Given the description of an element on the screen output the (x, y) to click on. 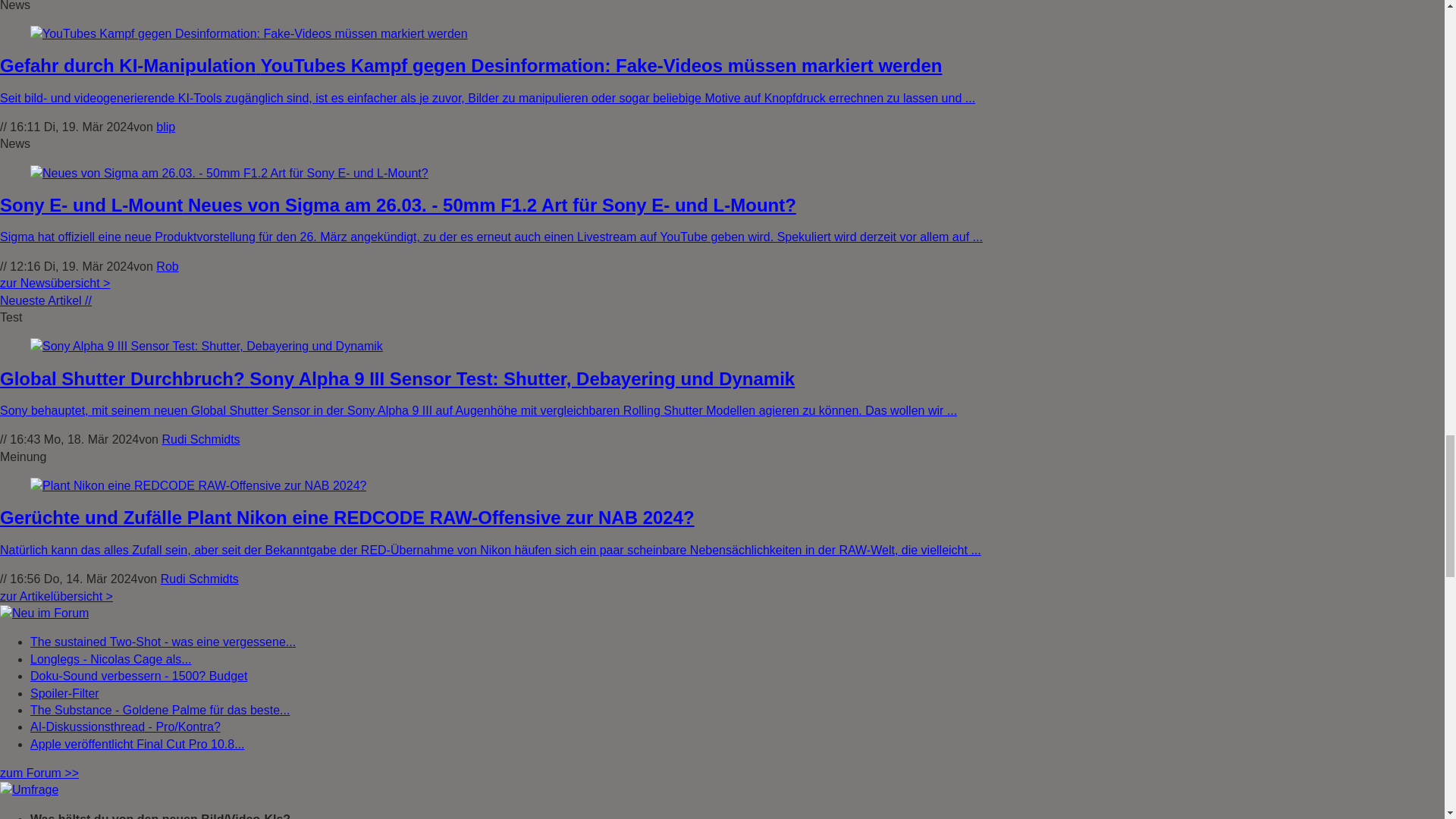
Artikelkategorie: Test (10, 317)
Artikelkategorie: Meinung (23, 456)
News (15, 143)
News (15, 5)
